Given the description of an element on the screen output the (x, y) to click on. 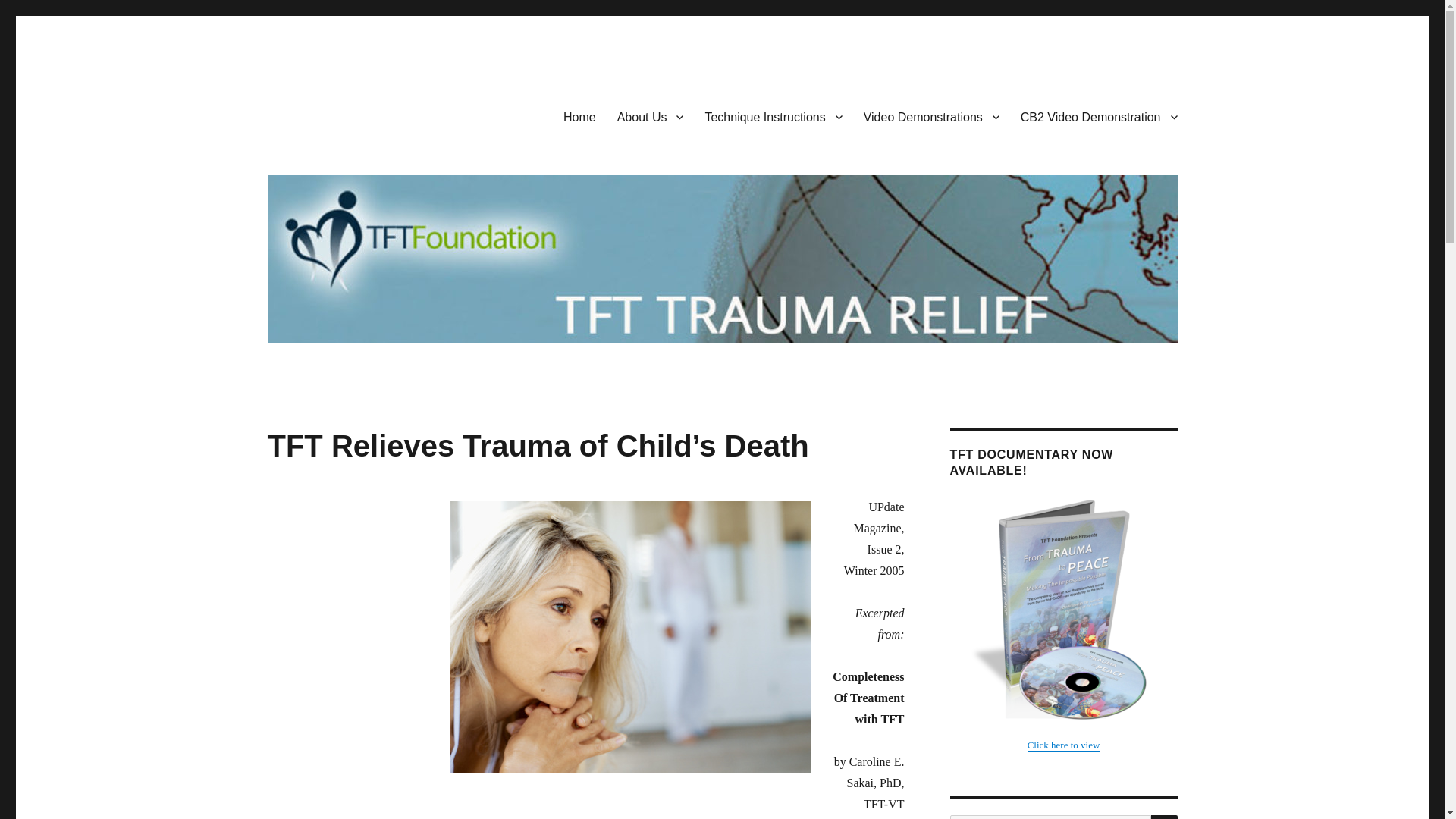
Technique Instructions (772, 116)
About Us (650, 116)
Home (580, 116)
CB2 Video Demonstration (1099, 116)
Video Demonstrations (931, 116)
SadWoman (629, 637)
